Given the description of an element on the screen output the (x, y) to click on. 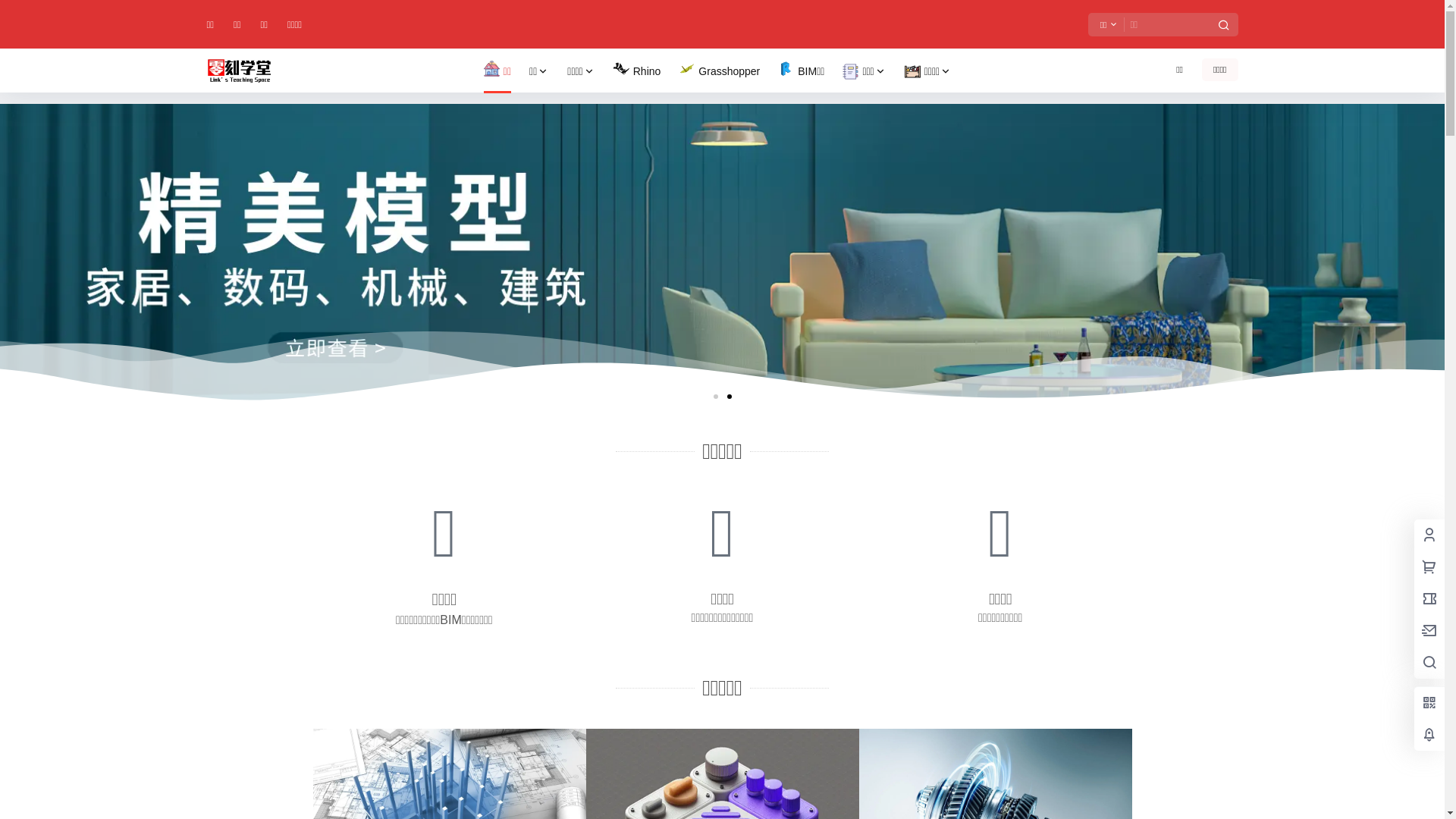
Rhino Element type: text (637, 71)
ok Element type: text (9, 9)
Grasshopper Element type: text (718, 71)
